Given the description of an element on the screen output the (x, y) to click on. 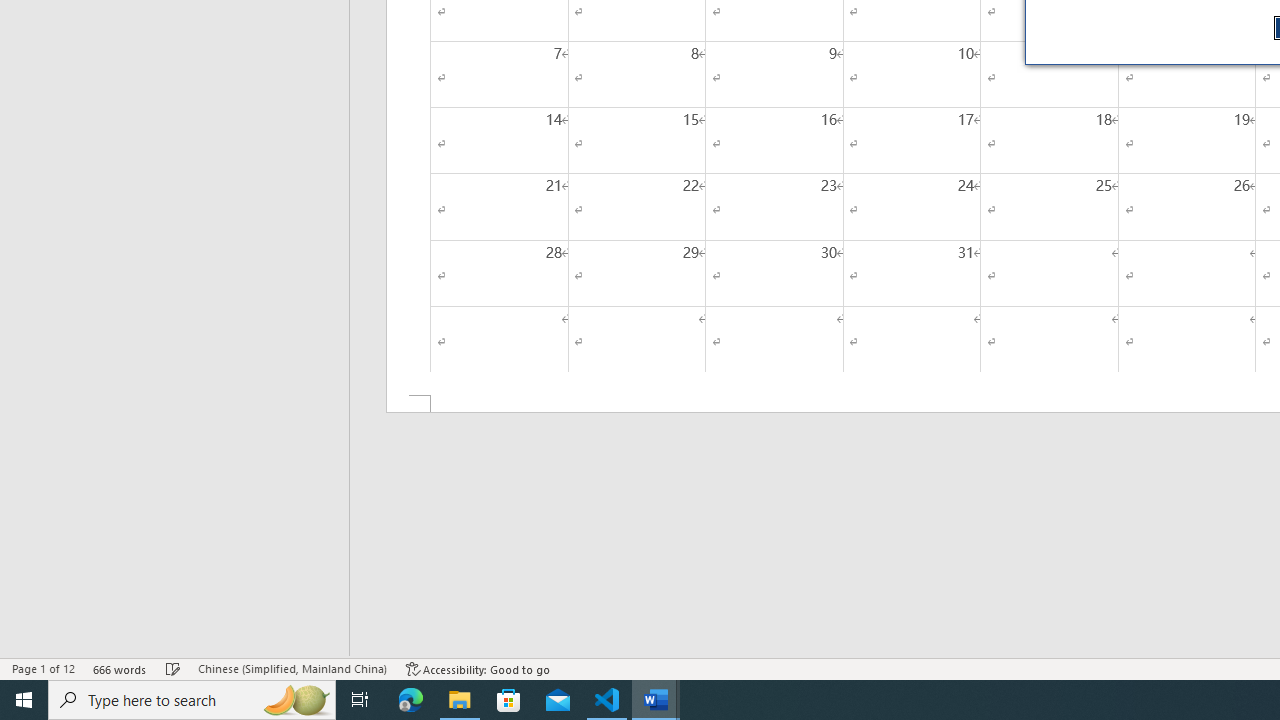
Microsoft Edge (411, 699)
